Given the description of an element on the screen output the (x, y) to click on. 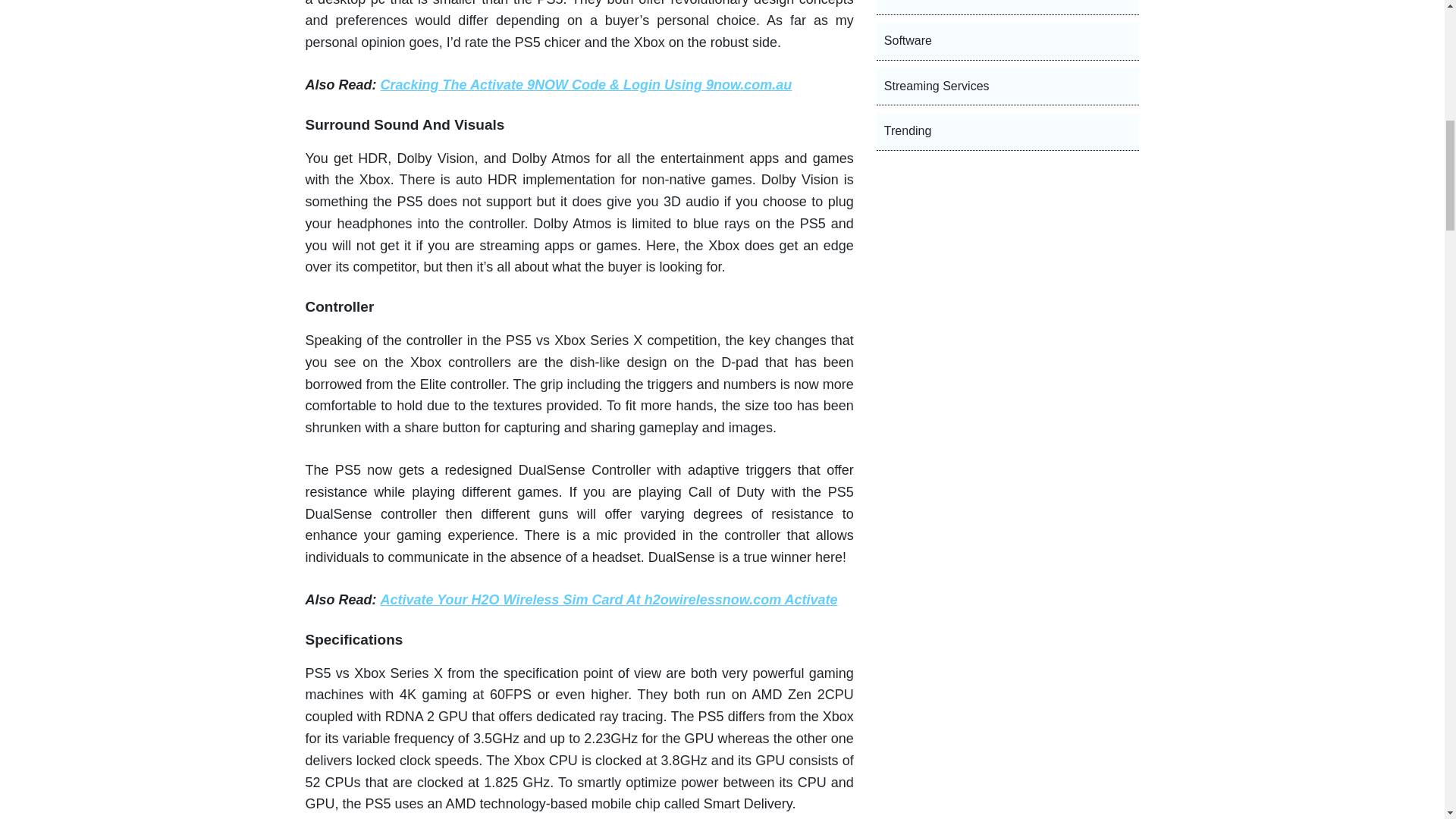
Streaming Services (1008, 86)
Software (1008, 41)
How To (1008, 7)
Trending (1008, 131)
